Given the description of an element on the screen output the (x, y) to click on. 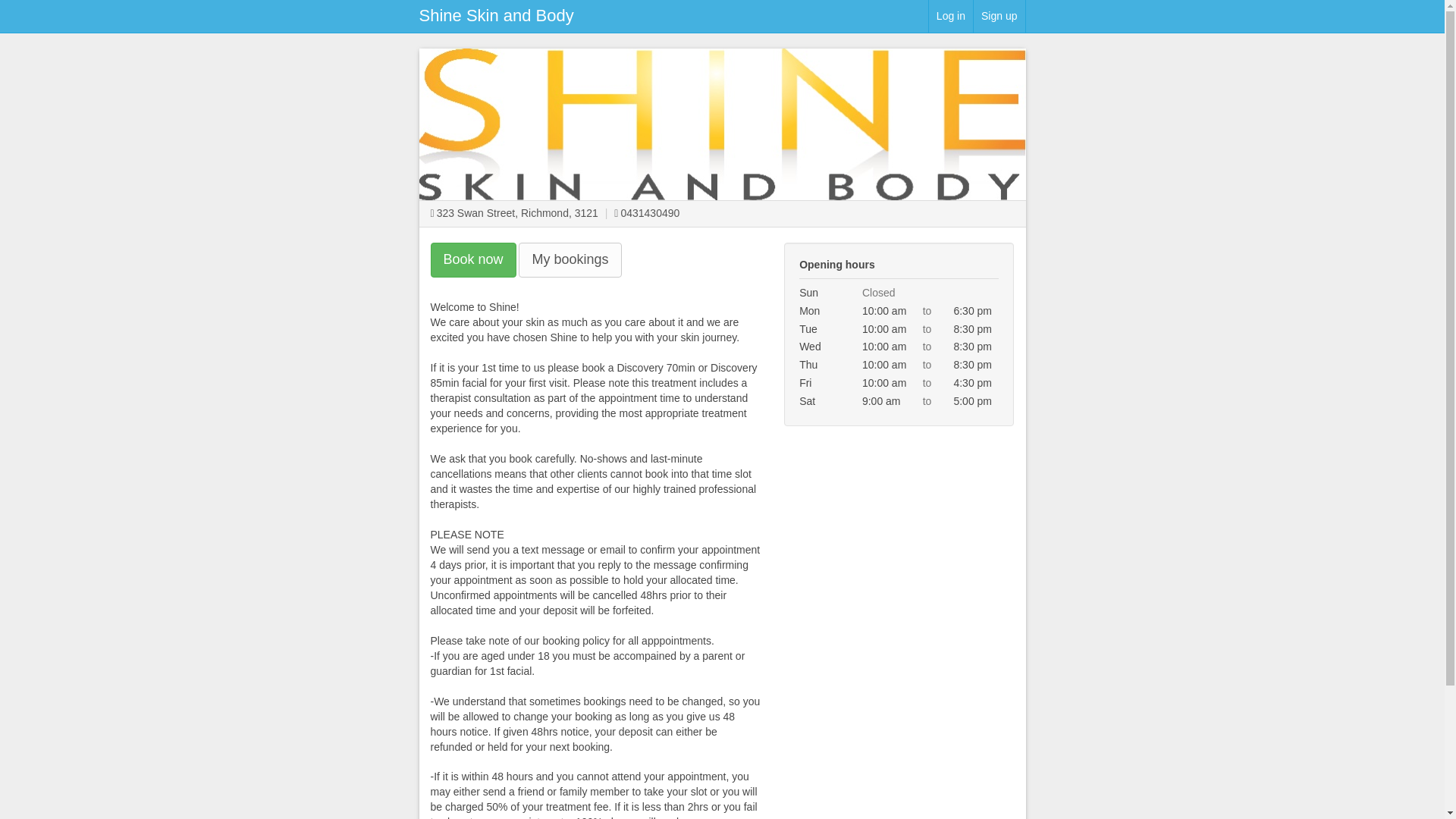
Sign up (998, 16)
Book now (473, 259)
Log in (951, 16)
My bookings (569, 259)
Shine Skin and Body (496, 15)
